Given the description of an element on the screen output the (x, y) to click on. 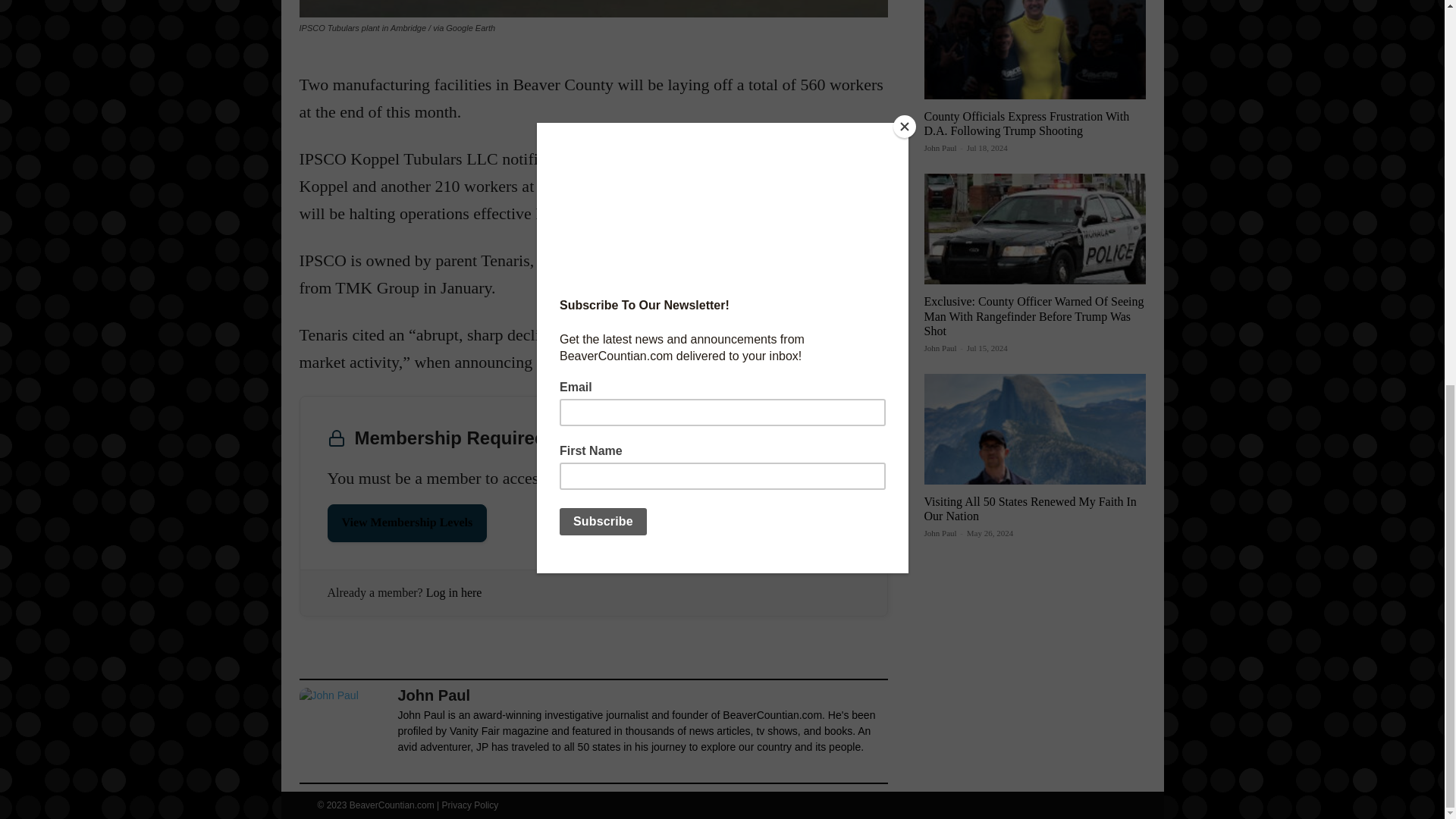
Privacy Policy (470, 805)
IPSCO-Tubulars-plant-ambridge (592, 8)
John Paul (939, 532)
John Paul (939, 347)
Visiting All 50 States Renewed My Faith In Our Nation (1029, 508)
John Paul (939, 147)
John Paul (641, 695)
John Paul (344, 732)
Log in here (453, 592)
View Membership Levels (407, 523)
